Given the description of an element on the screen output the (x, y) to click on. 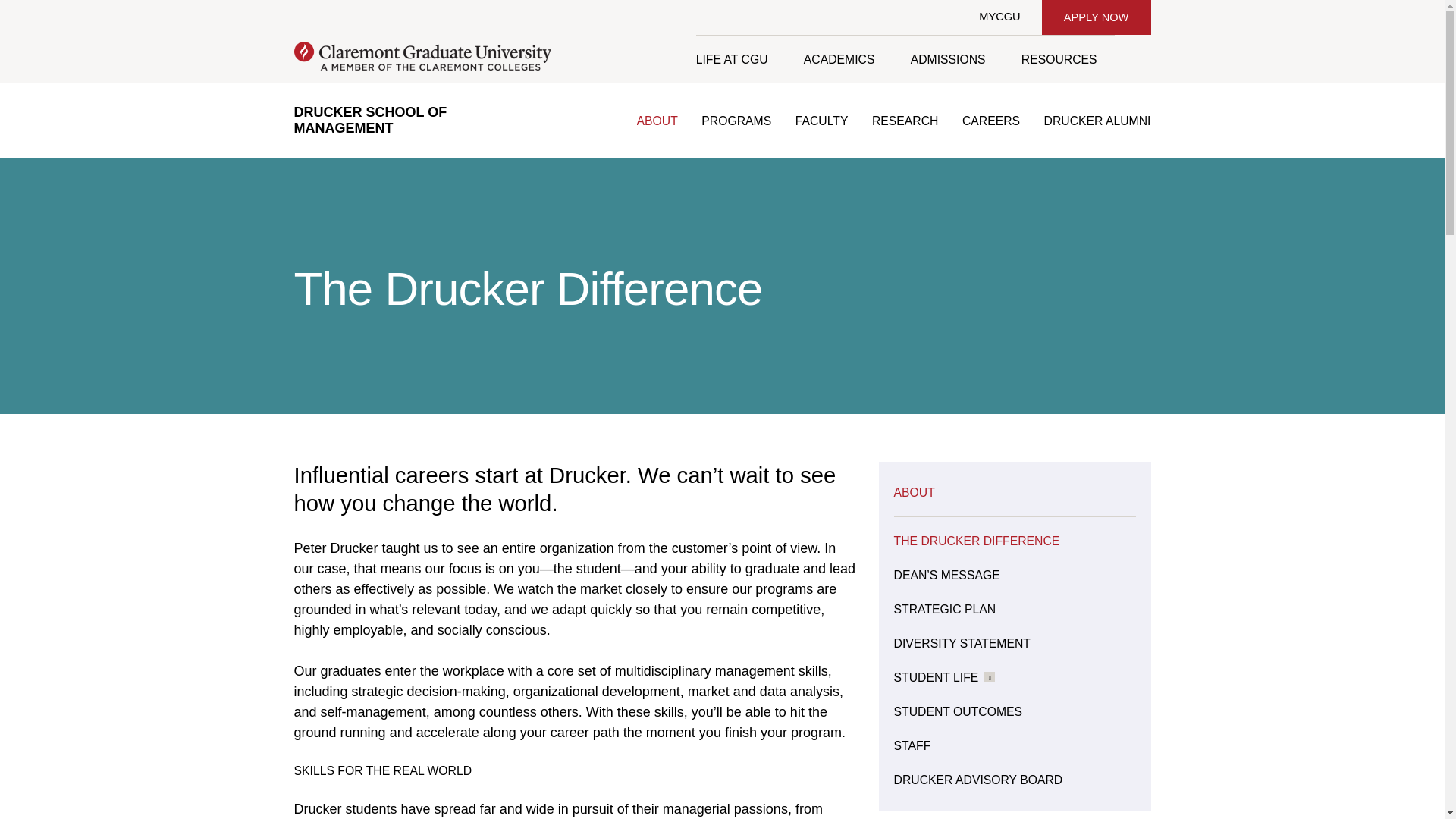
ADMISSIONS (947, 59)
MYCGU (1000, 16)
APPLY NOW (1096, 17)
ACADEMICS (839, 59)
LIFE AT CGU (740, 59)
open search field (1132, 58)
